Given the description of an element on the screen output the (x, y) to click on. 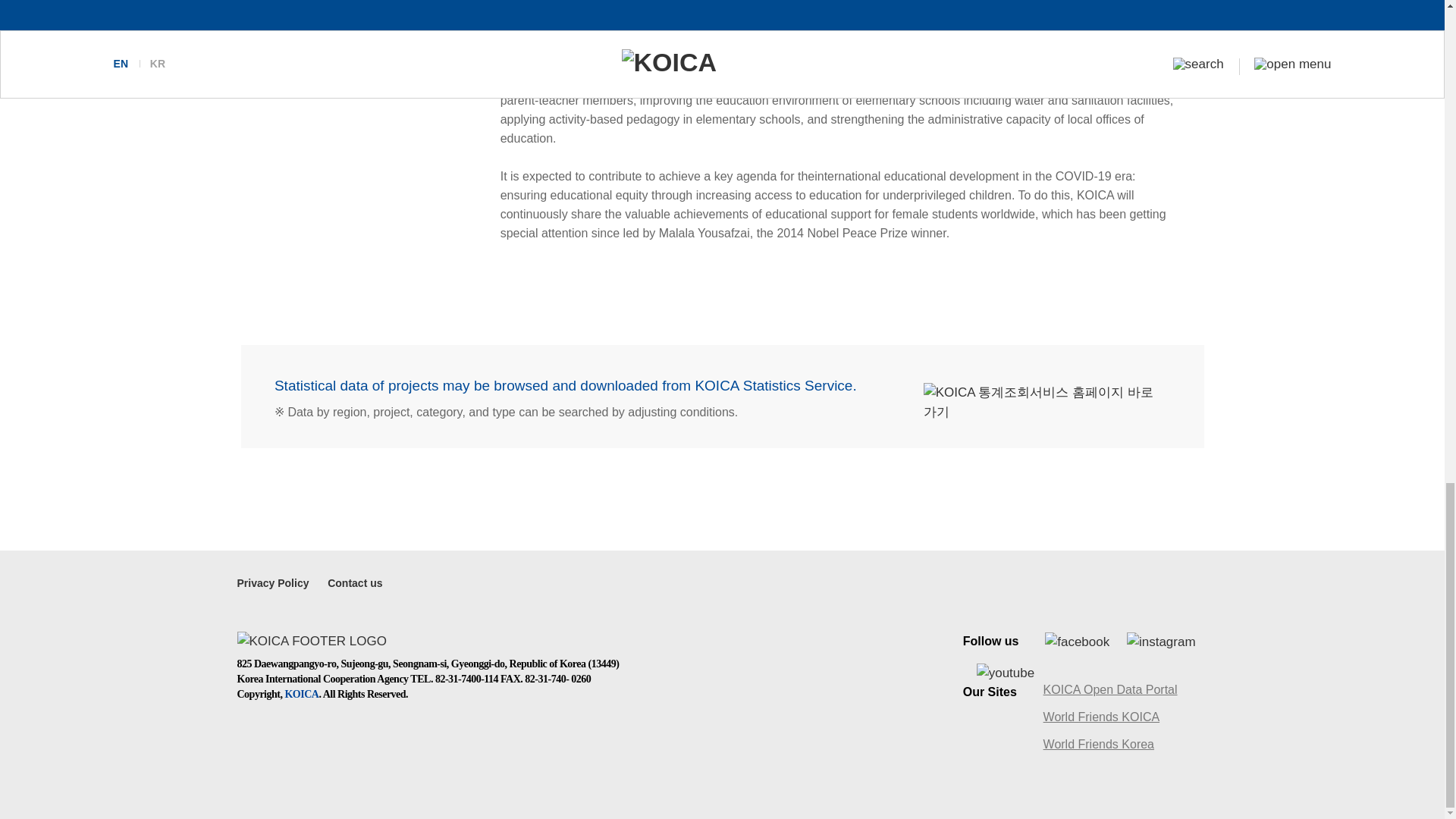
new window (1160, 641)
new window (1005, 673)
new window (354, 583)
new window (1077, 641)
new window (1110, 717)
new window (271, 583)
new window (1110, 689)
